Given the description of an element on the screen output the (x, y) to click on. 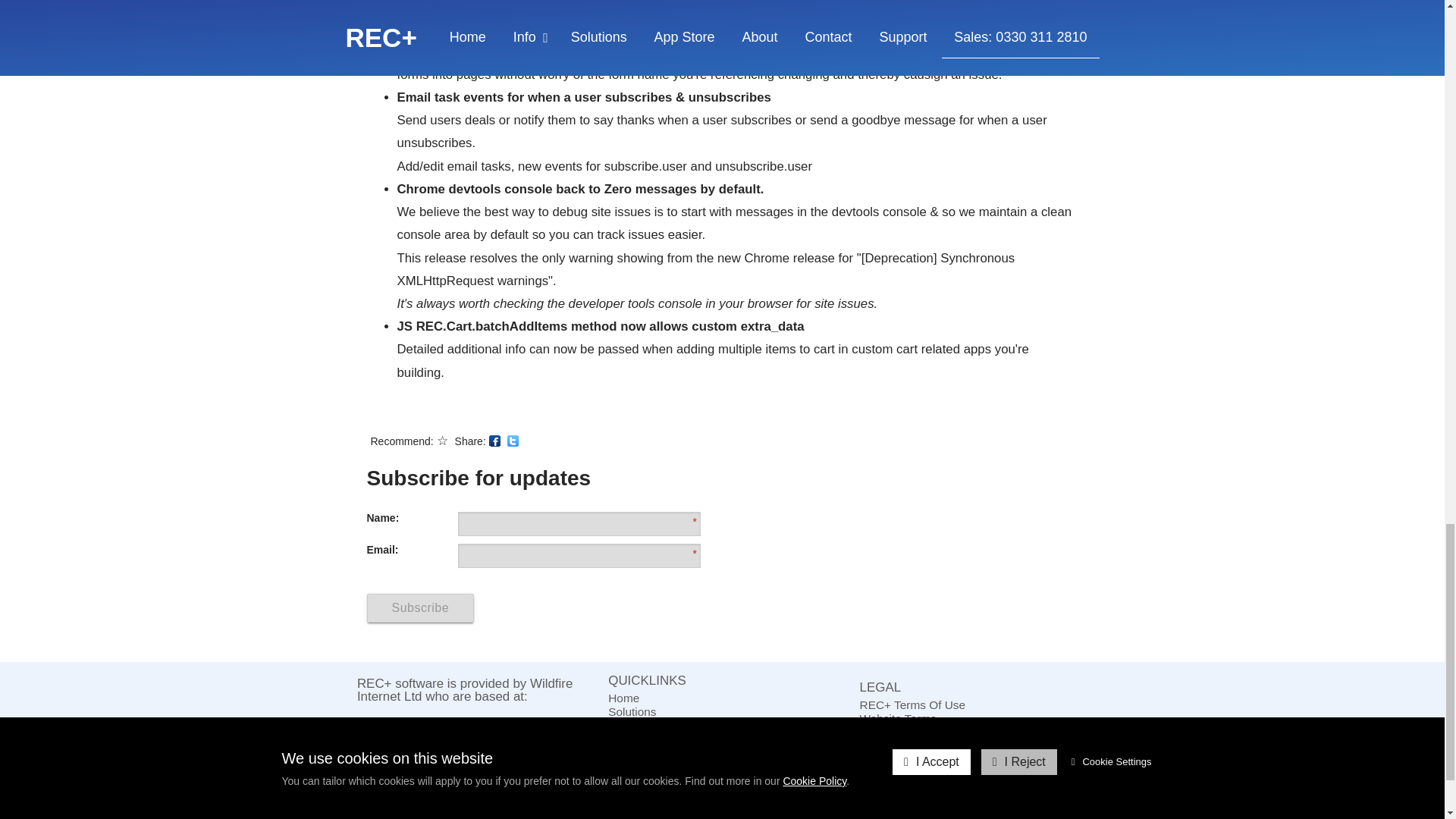
Privacy Policy For Google Services (973, 745)
twitter (512, 440)
Support (721, 753)
facebook (494, 440)
Solutions (721, 712)
Website Terms (973, 718)
Contact (721, 739)
Solutions (721, 712)
Subscribe (721, 766)
Subscribe (420, 607)
